Given the description of an element on the screen output the (x, y) to click on. 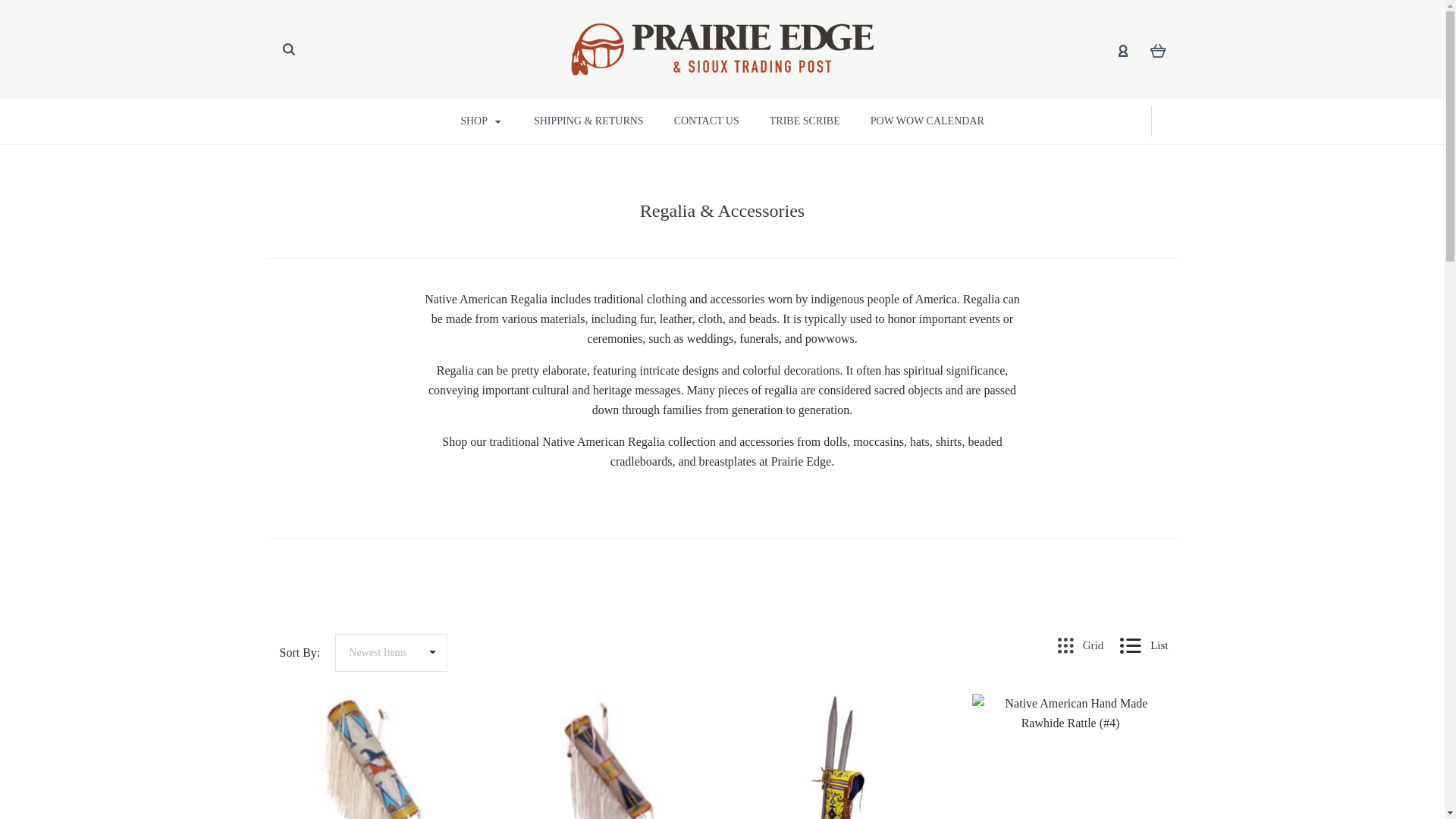
SHOP (481, 121)
0 (1158, 49)
